Given the description of an element on the screen output the (x, y) to click on. 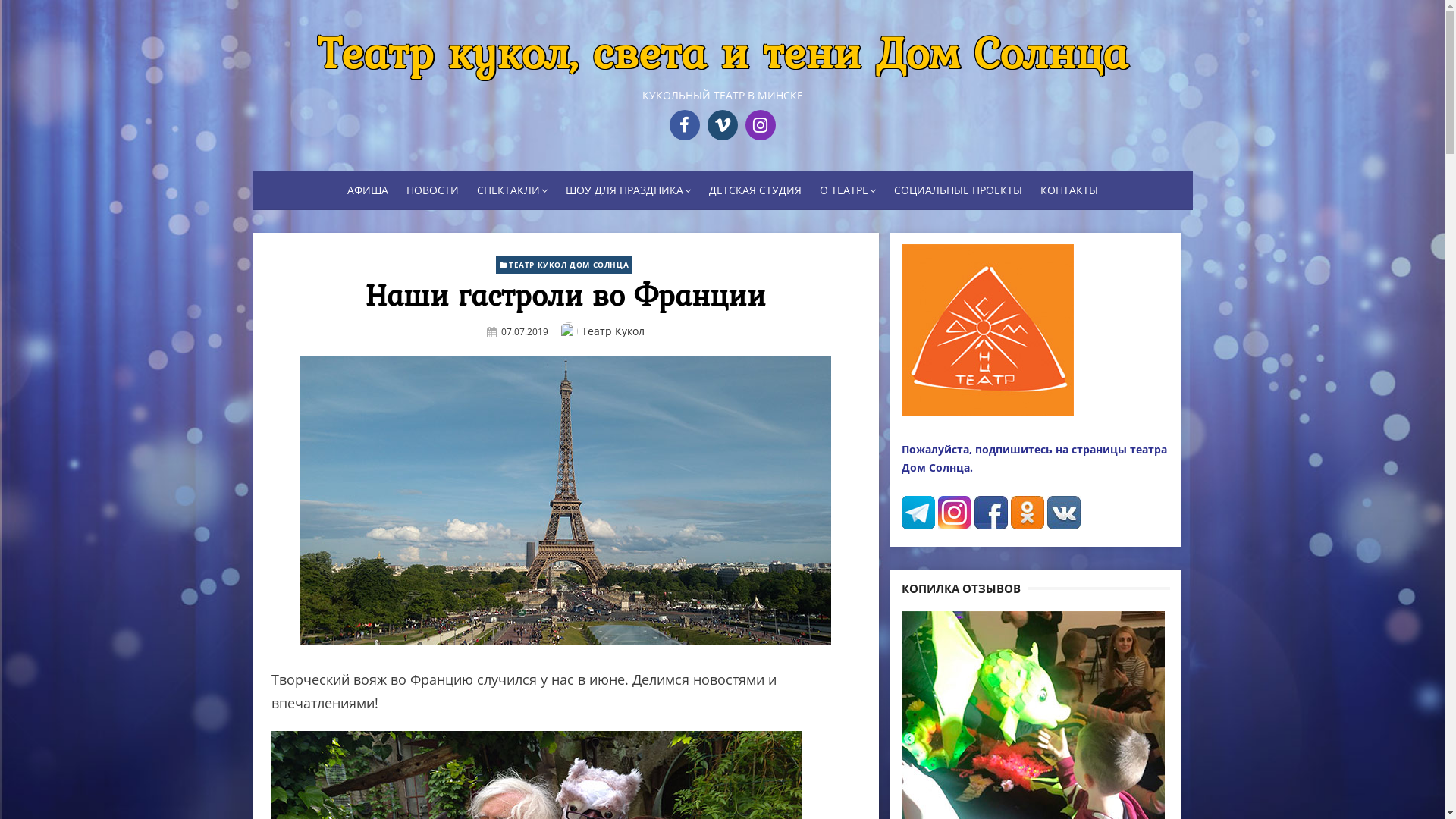
07.07.2019 Element type: text (524, 331)
Skip to content Element type: text (251, 0)
